Given the description of an element on the screen output the (x, y) to click on. 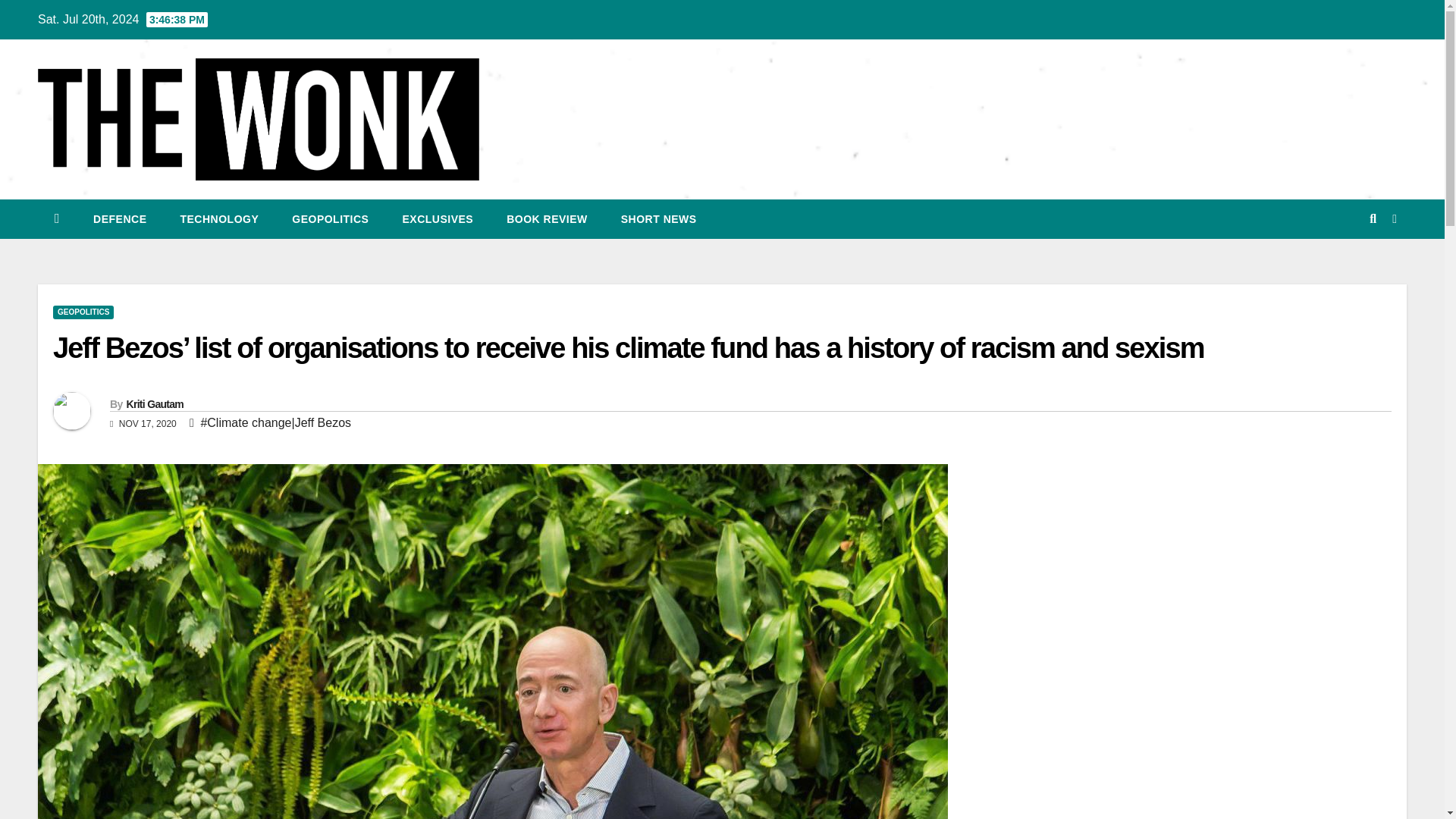
Short News (658, 219)
Technology (219, 219)
BOOK REVIEW (546, 219)
Book Review (546, 219)
SHORT NEWS (658, 219)
GEOPOLITICS (330, 219)
DEFENCE (120, 219)
TECHNOLOGY (219, 219)
Defence (120, 219)
Kriti Gautam (154, 404)
EXCLUSIVES (437, 219)
GEOPOLITICS (82, 312)
Geopolitics (330, 219)
Exclusives (437, 219)
